Given the description of an element on the screen output the (x, y) to click on. 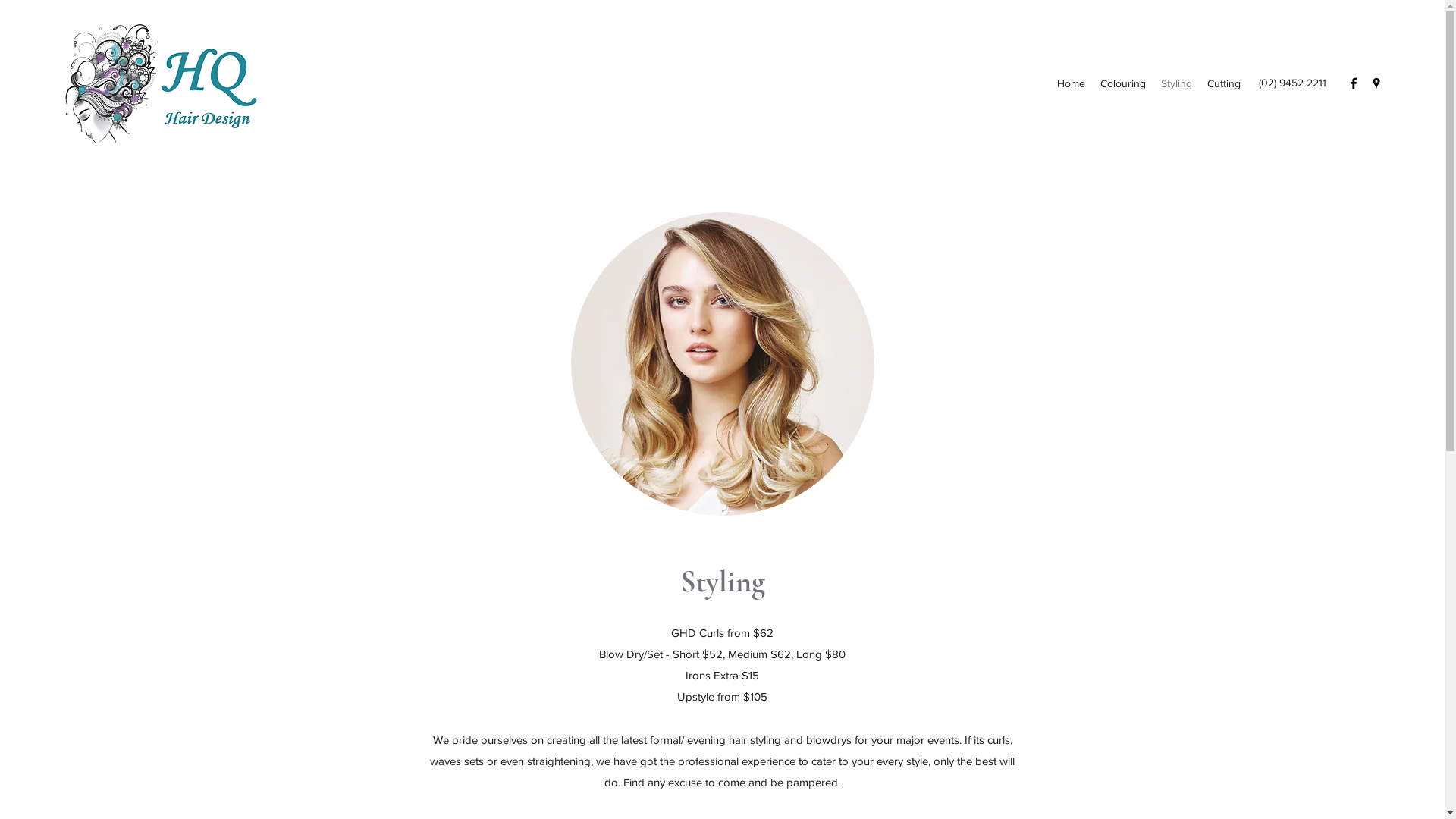
Styling Element type: text (1176, 83)
Cutting Element type: text (1223, 83)
Colouring Element type: text (1122, 83)
Home Element type: text (1070, 83)
